Given the description of an element on the screen output the (x, y) to click on. 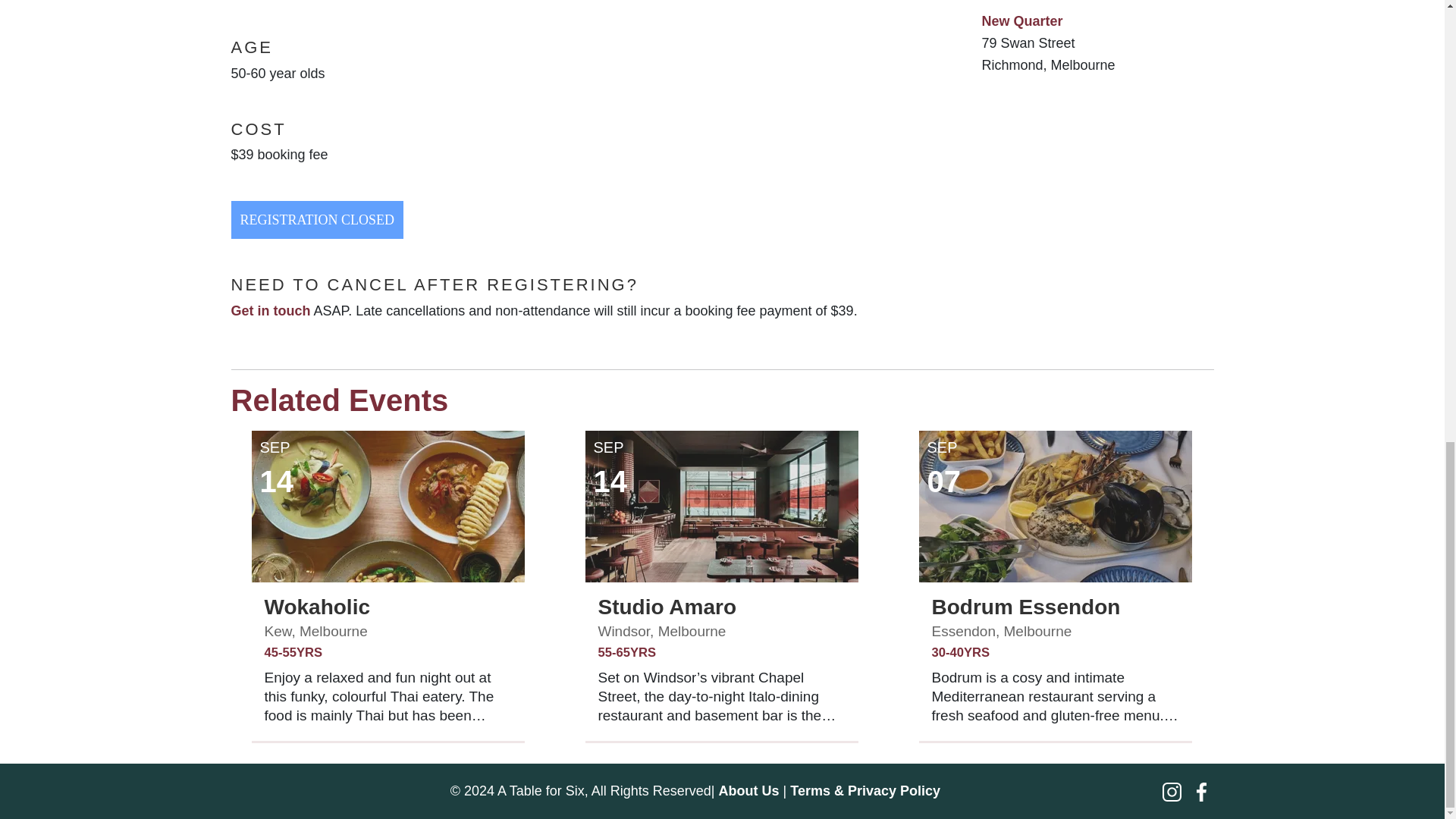
Studio Amaro (666, 607)
REGISTRATION CLOSED (316, 219)
About Us (748, 790)
New Quarter (1021, 20)
Wokaholic (316, 607)
Bodrum Essendon (1025, 607)
Get in touch (270, 310)
